Given the description of an element on the screen output the (x, y) to click on. 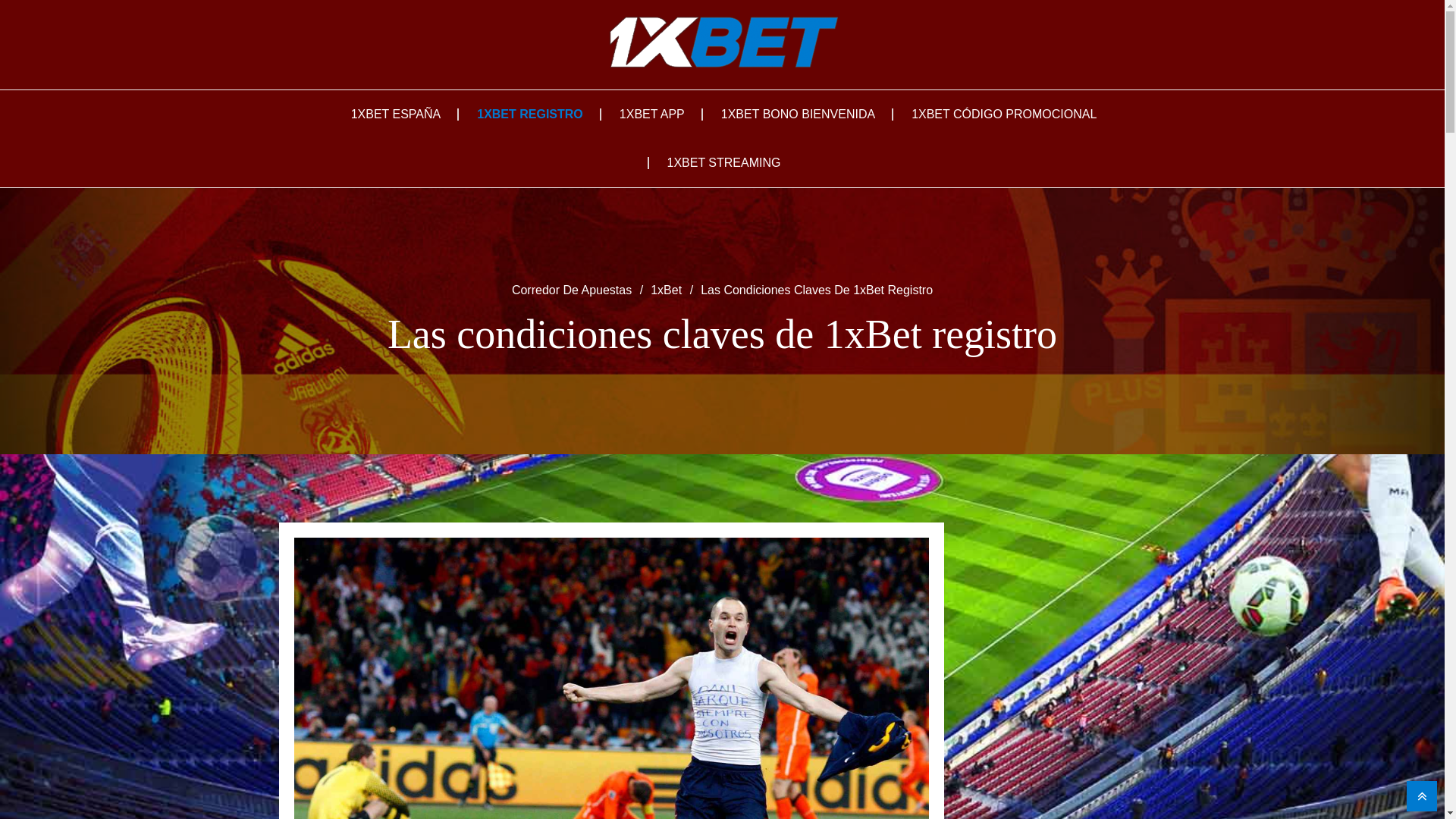
1XBET REGISTRO Element type: text (529, 114)
1XBET BONO BIENVENIDA Element type: text (797, 114)
1XBET STREAMING Element type: text (723, 162)
1XBET APP Element type: text (651, 114)
1xBet Element type: text (665, 290)
Corredor De Apuestas Element type: text (571, 290)
